Given the description of an element on the screen output the (x, y) to click on. 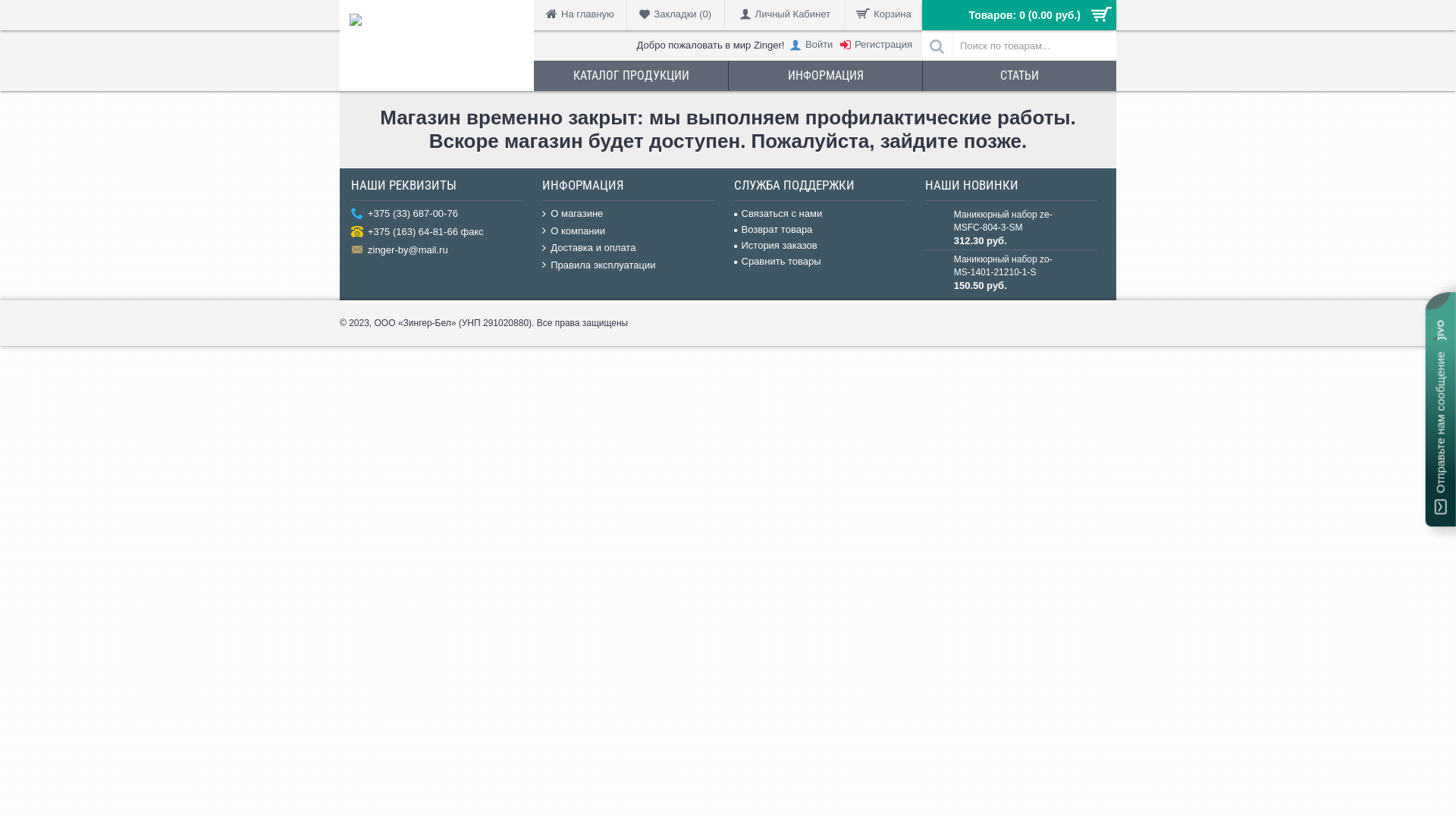
zinger-by@mail.ru Element type: text (437, 250)
